Given the description of an element on the screen output the (x, y) to click on. 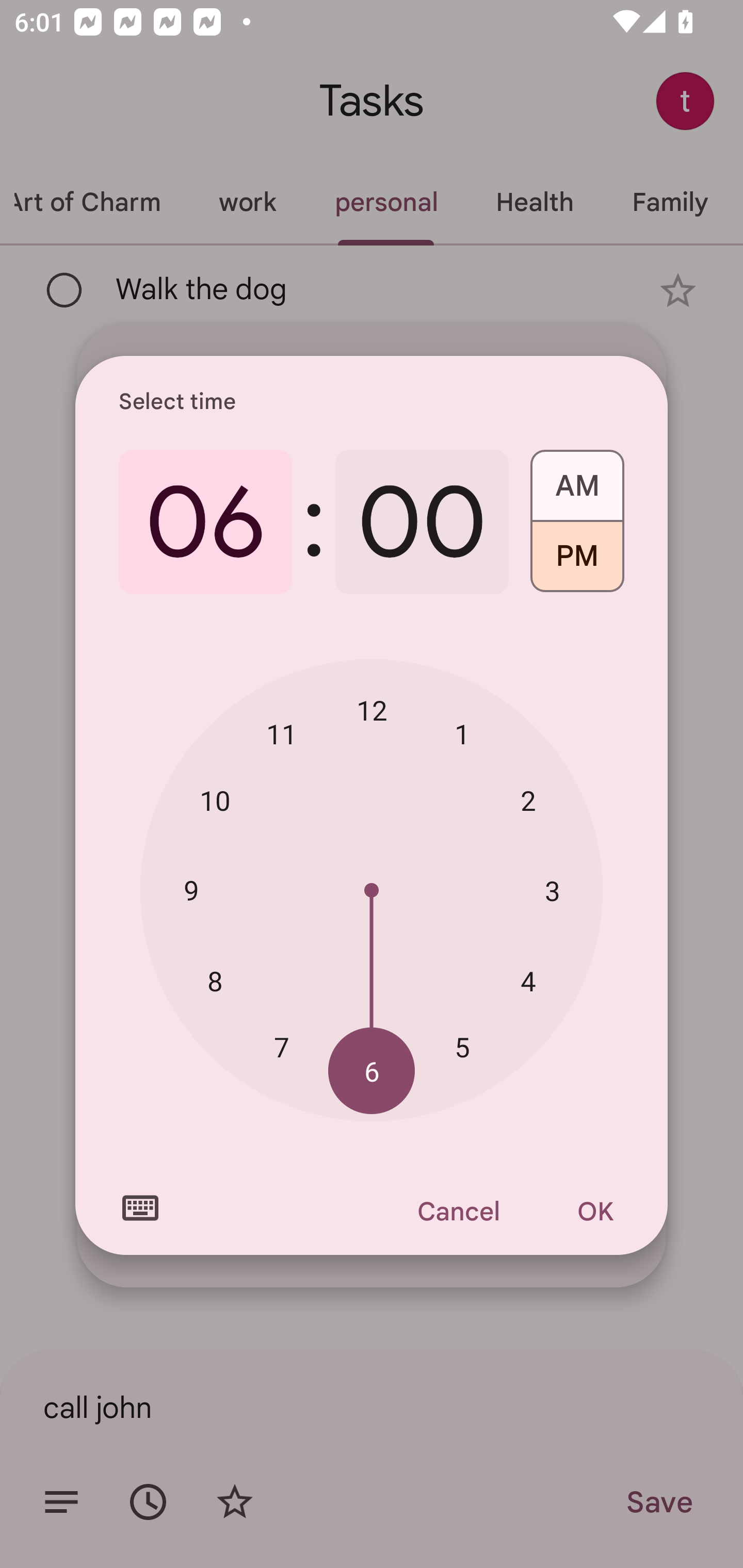
AM (577, 478)
06 6 o'clock (204, 522)
00 0 minutes (421, 522)
PM (577, 563)
12 12 o'clock (371, 710)
11 11 o'clock (281, 733)
1 1 o'clock (462, 733)
10 10 o'clock (214, 800)
2 2 o'clock (528, 800)
9 9 o'clock (190, 889)
3 3 o'clock (551, 890)
8 8 o'clock (214, 980)
4 4 o'clock (528, 980)
7 7 o'clock (281, 1046)
5 5 o'clock (462, 1046)
6 6 o'clock (371, 1071)
Switch to text input mode for the time input. (140, 1208)
Cancel (458, 1211)
OK (595, 1211)
